Given the description of an element on the screen output the (x, y) to click on. 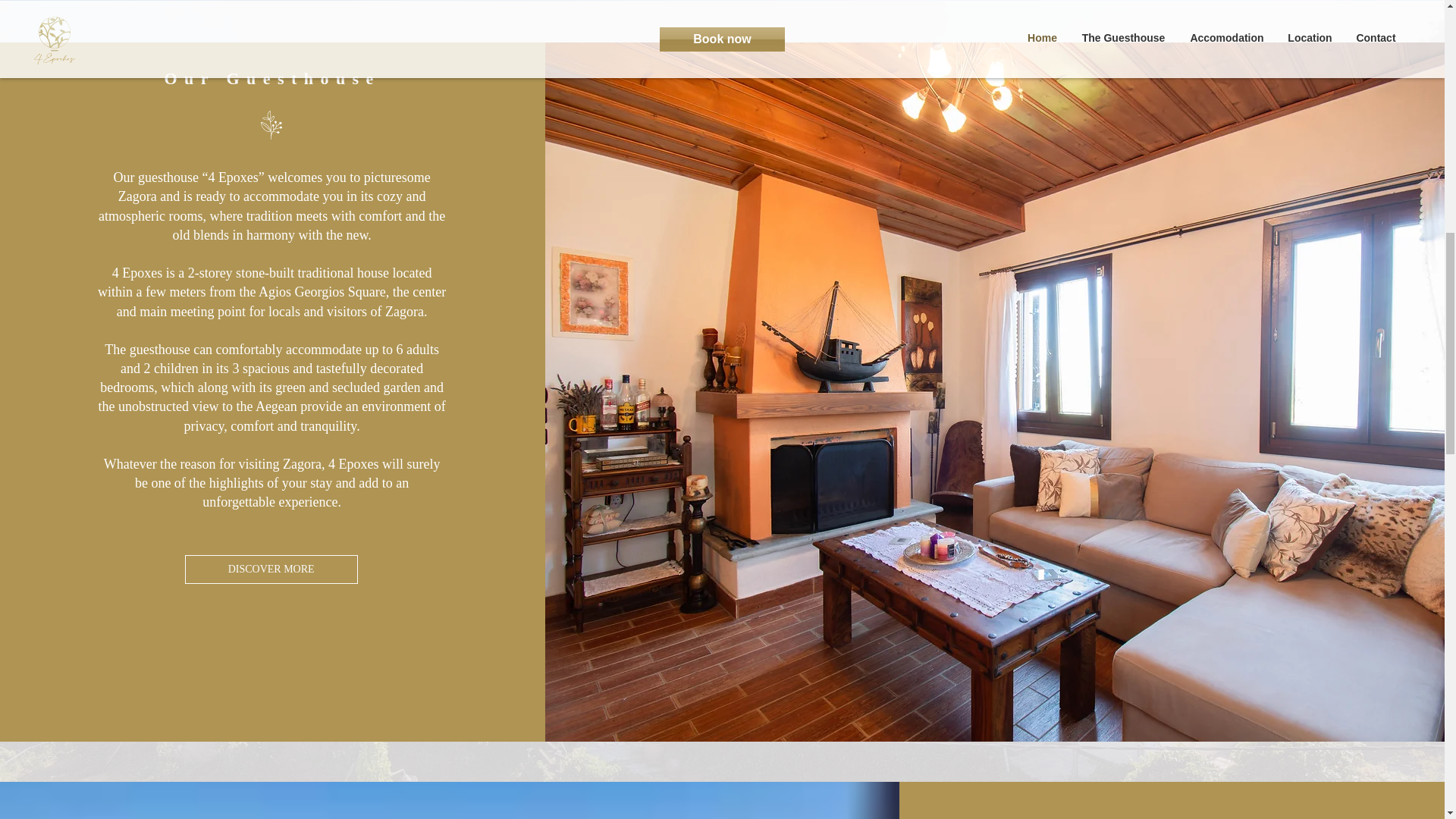
DISCOVER MORE (271, 569)
